Given the description of an element on the screen output the (x, y) to click on. 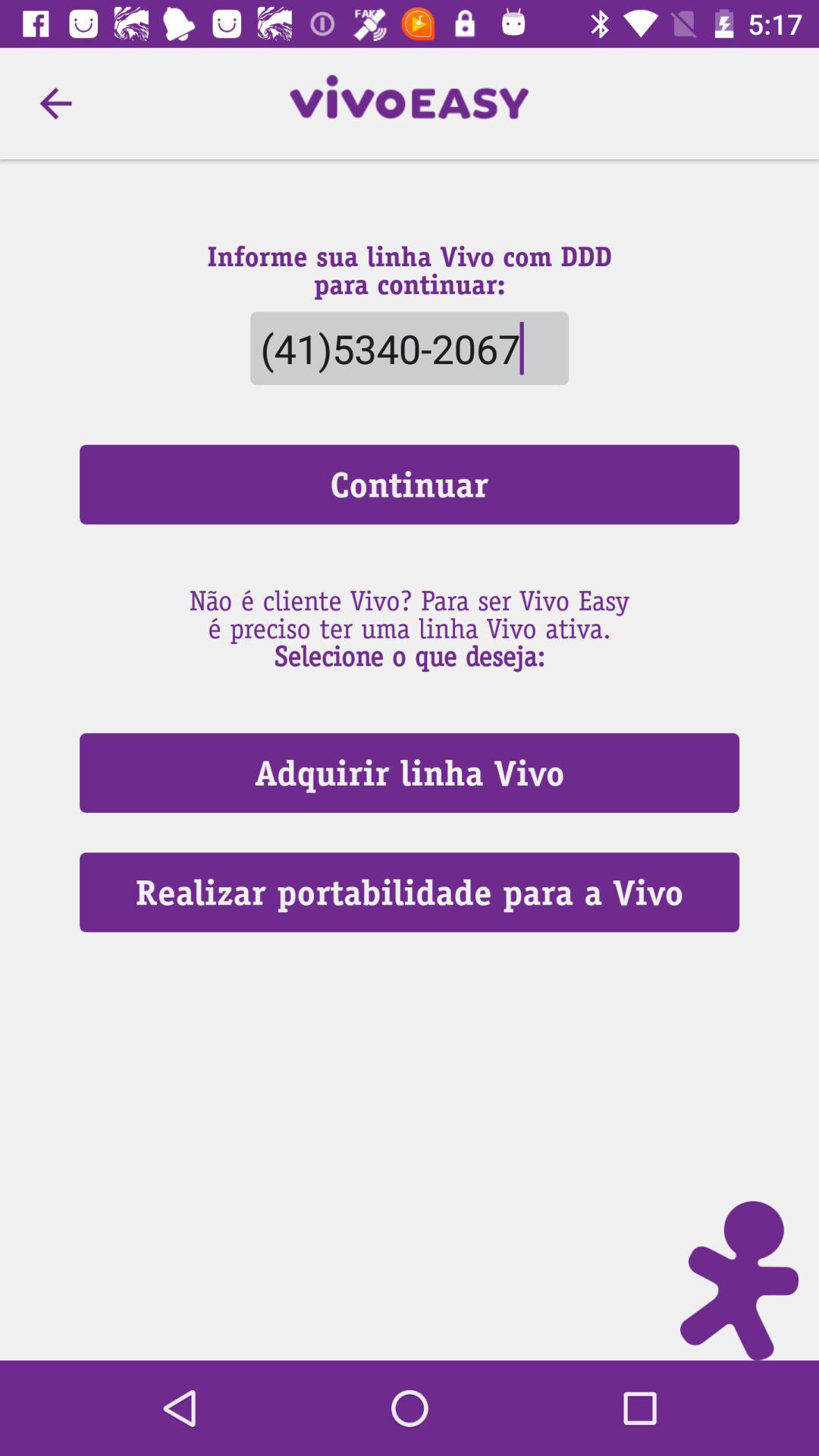
click adquirir linha vivo item (409, 772)
